Given the description of an element on the screen output the (x, y) to click on. 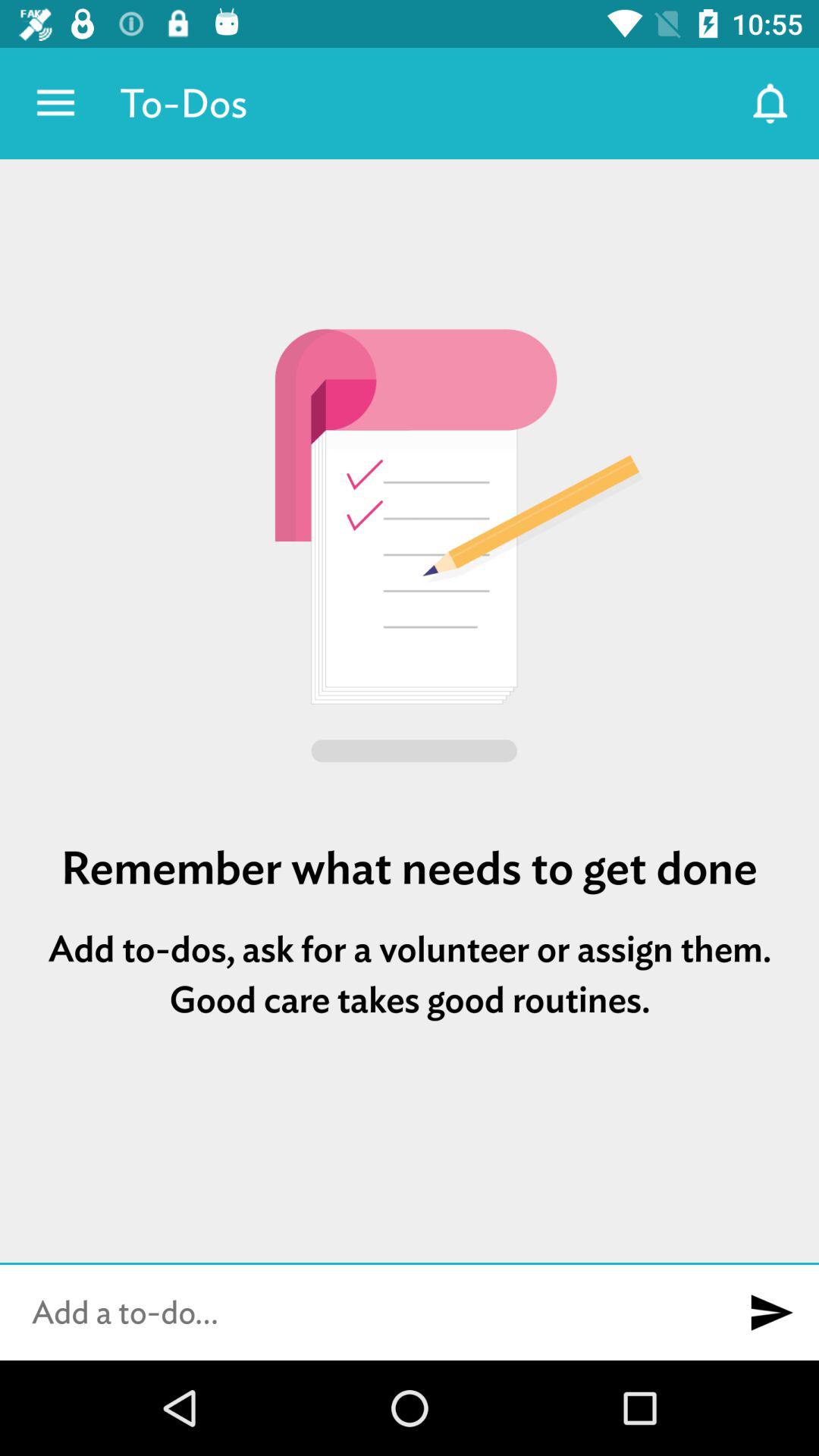
add a note (361, 1312)
